Given the description of an element on the screen output the (x, y) to click on. 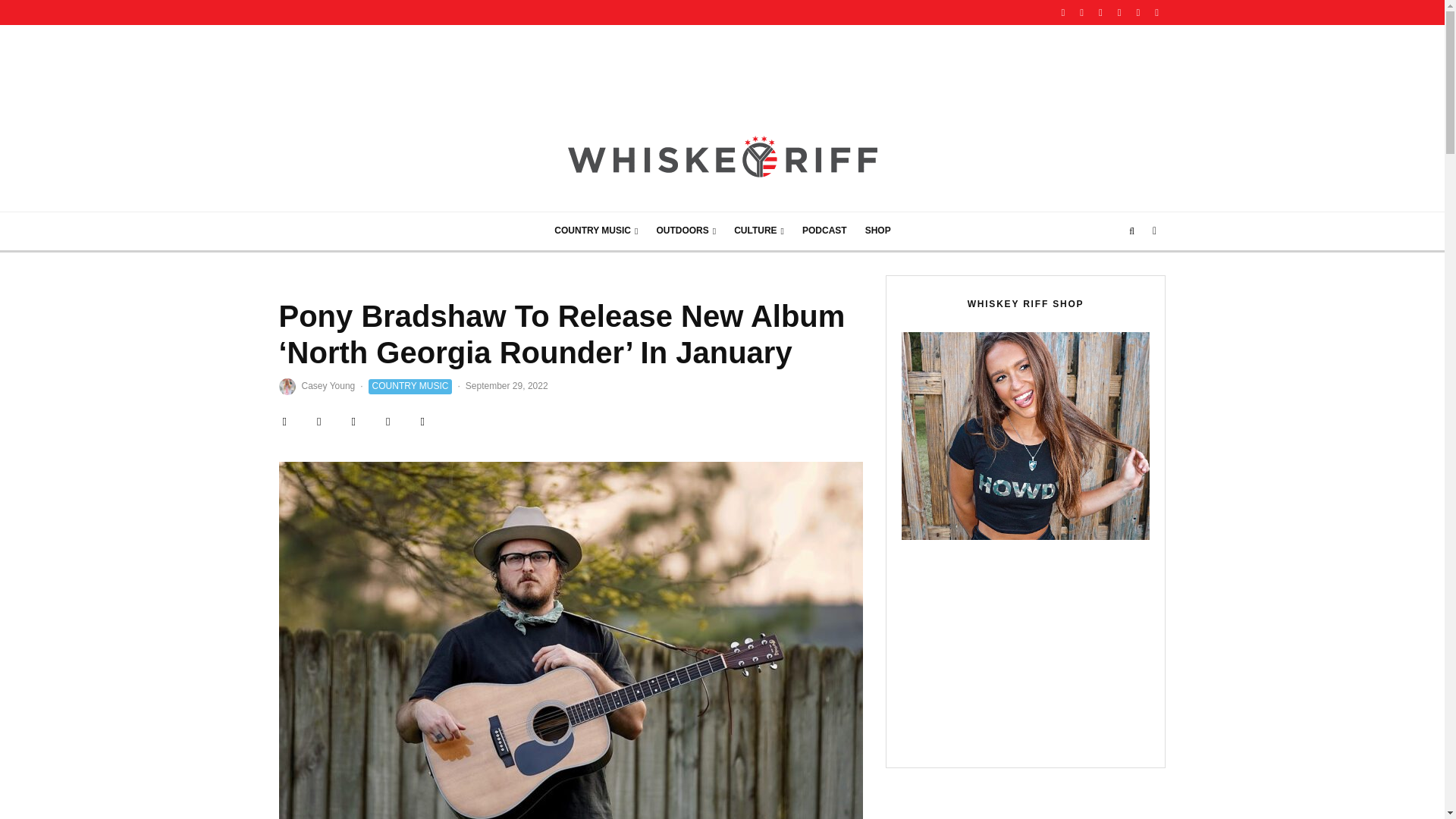
COUNTRY MUSIC (595, 231)
OUTDOORS (685, 231)
CULTURE (759, 231)
